Given the description of an element on the screen output the (x, y) to click on. 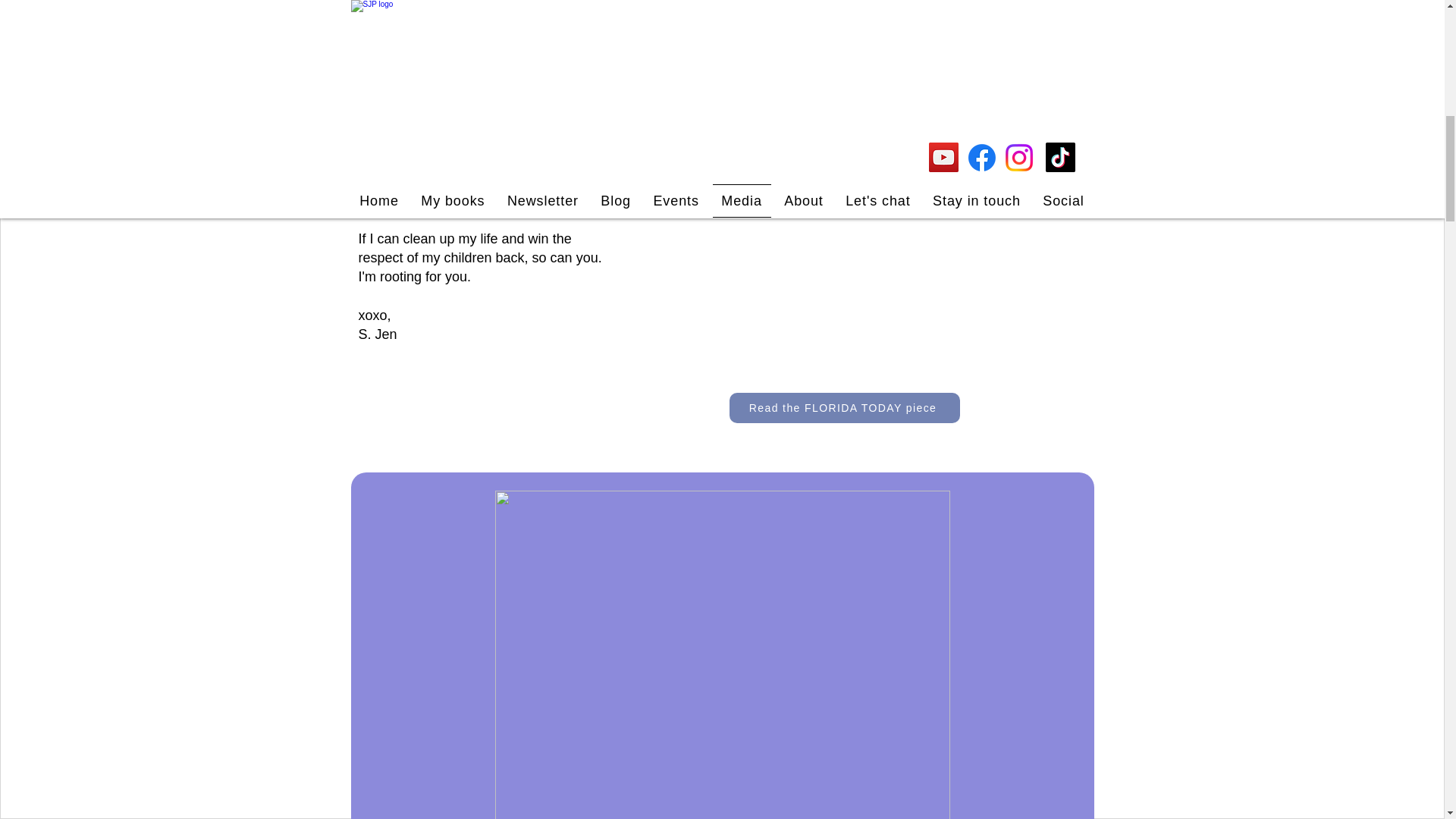
here (562, 47)
Read the FLORIDA TODAY piece (844, 408)
